Given the description of an element on the screen output the (x, y) to click on. 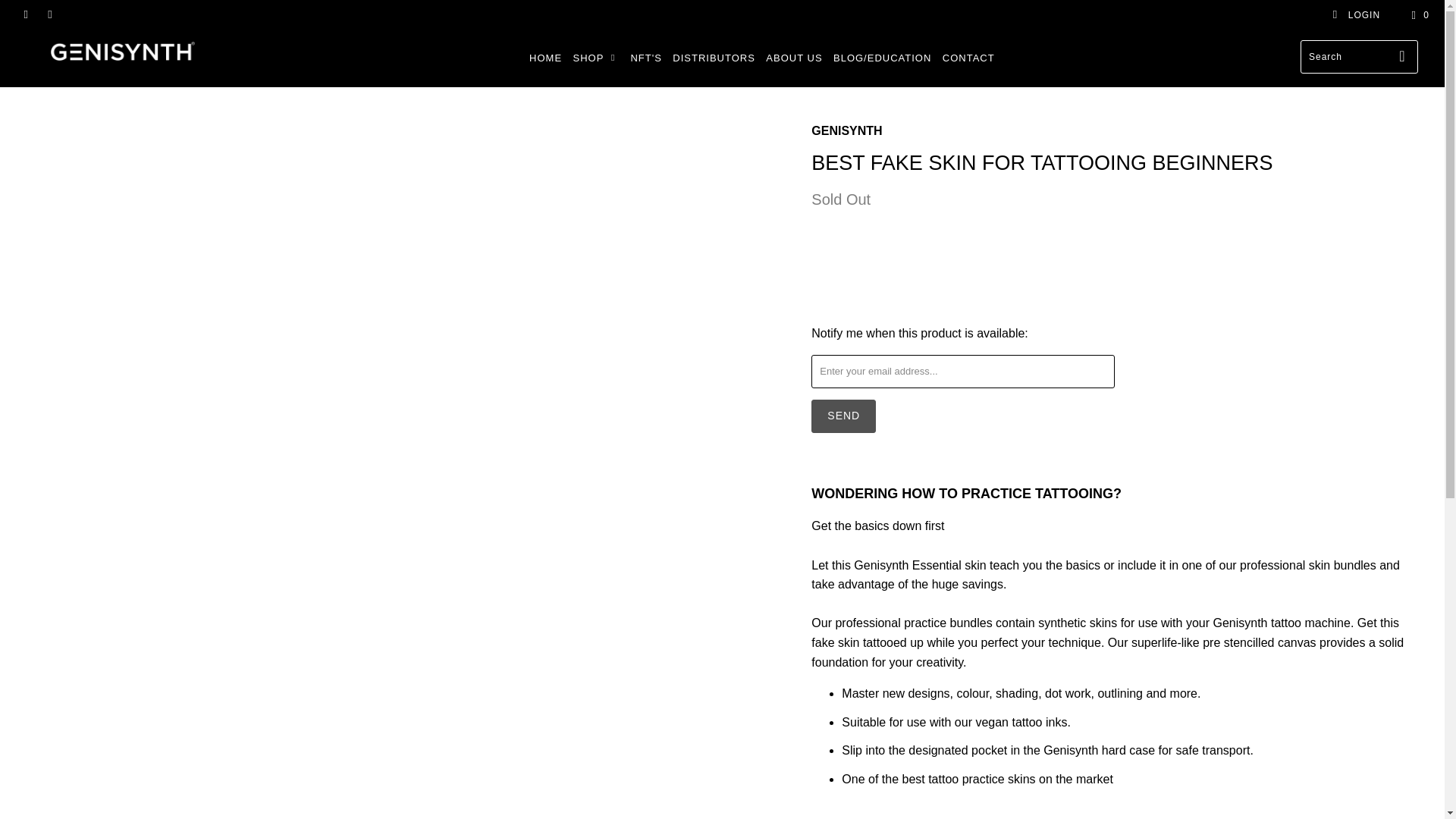
GENISYNTH on Facebook (25, 14)
My Account  (1355, 15)
GENISYNTH (846, 130)
GENISYNTH on Instagram (49, 14)
Send (843, 416)
LOGIN (1355, 15)
SHOP (596, 58)
DISTRIBUTORS (713, 58)
GENISYNTH (122, 51)
